Given the description of an element on the screen output the (x, y) to click on. 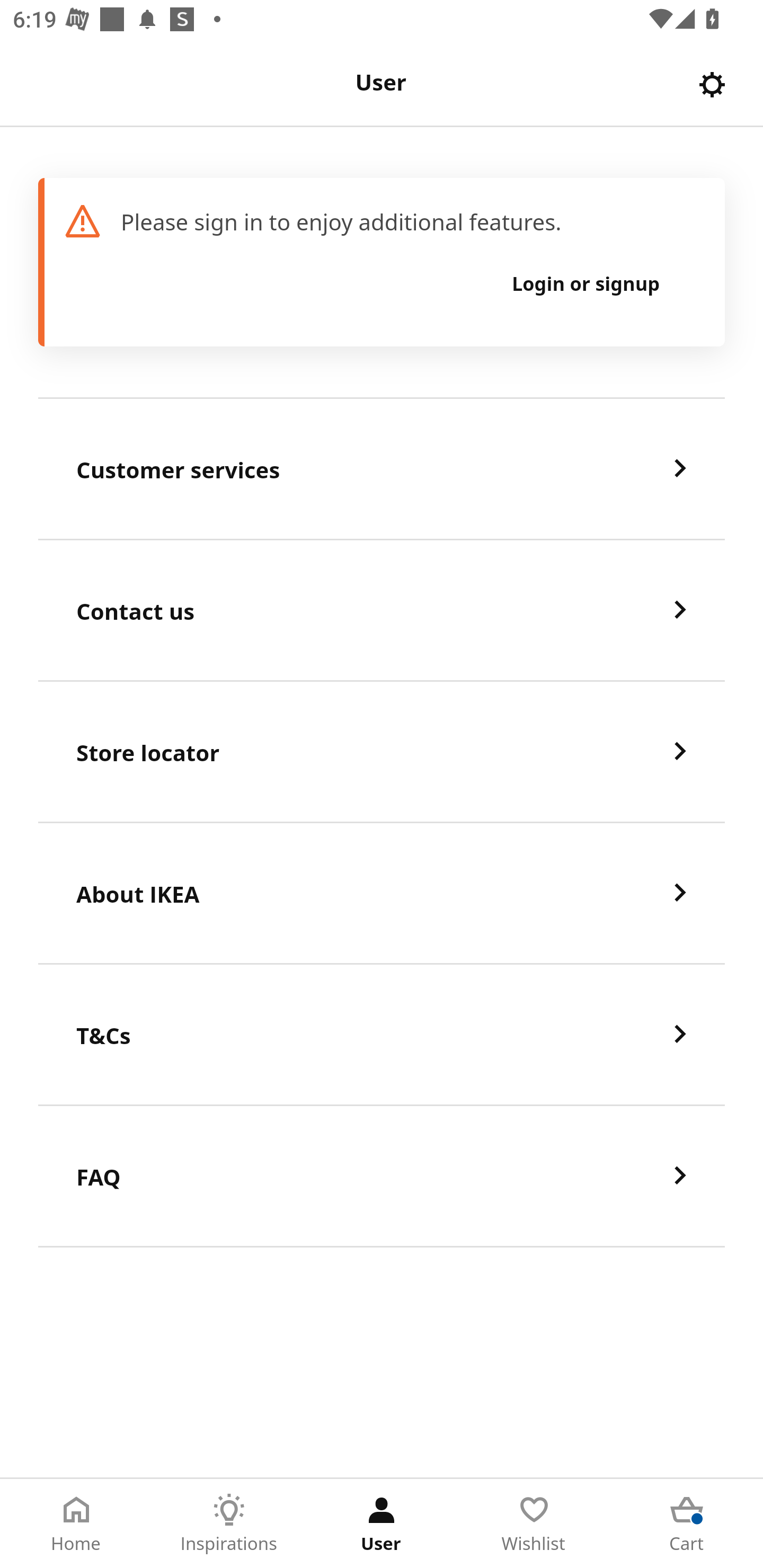
Login or signup (586, 282)
Customer services (381, 469)
Contact us (381, 611)
Store locator (381, 752)
About IKEA (381, 893)
T&Cs (381, 1034)
FAQ (381, 1176)
Home
Tab 1 of 5 (76, 1522)
Inspirations
Tab 2 of 5 (228, 1522)
User
Tab 3 of 5 (381, 1522)
Wishlist
Tab 4 of 5 (533, 1522)
Cart
Tab 5 of 5 (686, 1522)
